Given the description of an element on the screen output the (x, y) to click on. 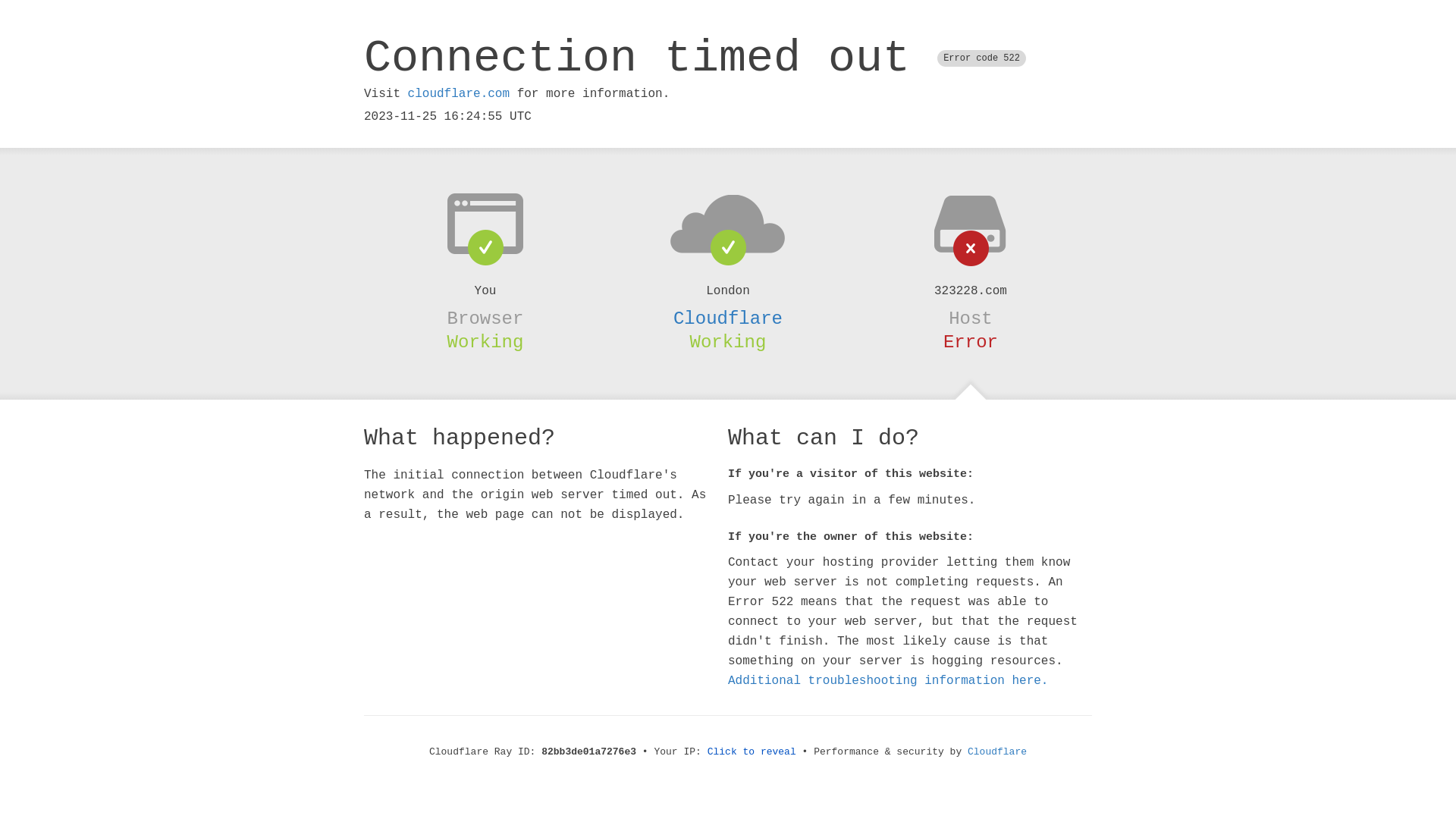
Click to reveal Element type: text (751, 751)
cloudflare.com Element type: text (458, 93)
Additional troubleshooting information here. Element type: text (888, 680)
Cloudflare Element type: text (996, 751)
Cloudflare Element type: text (727, 318)
